Given the description of an element on the screen output the (x, y) to click on. 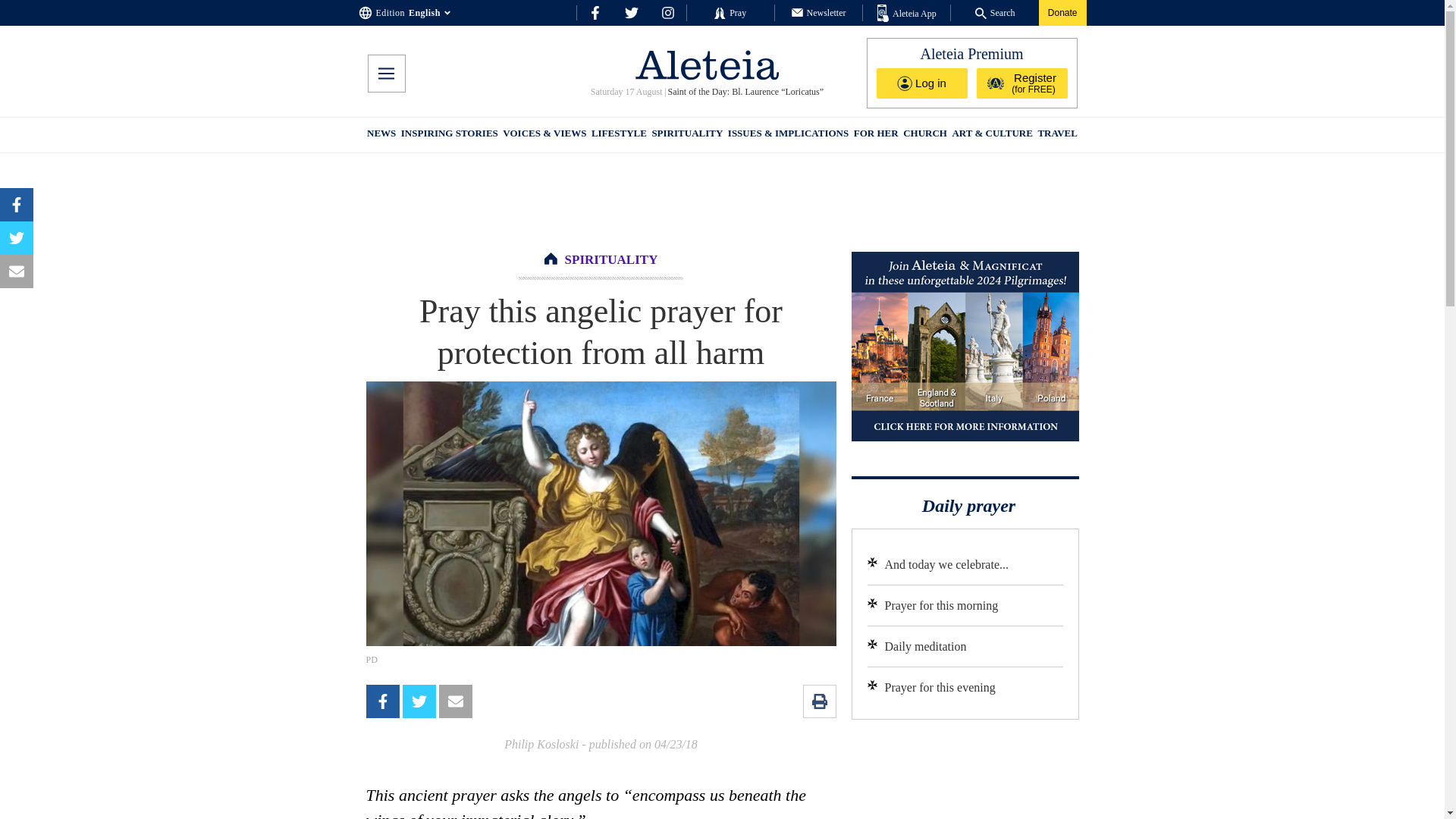
social-fb-top-row (595, 12)
INSPIRING STORIES (449, 134)
social-tw-top-row (631, 12)
Newsletter (818, 12)
FOR HER (875, 134)
SPIRITUALITY (611, 259)
social-ig-top-row (668, 12)
CHURCH (924, 134)
logo-header (706, 64)
Aleteia App (906, 13)
